Given the description of an element on the screen output the (x, y) to click on. 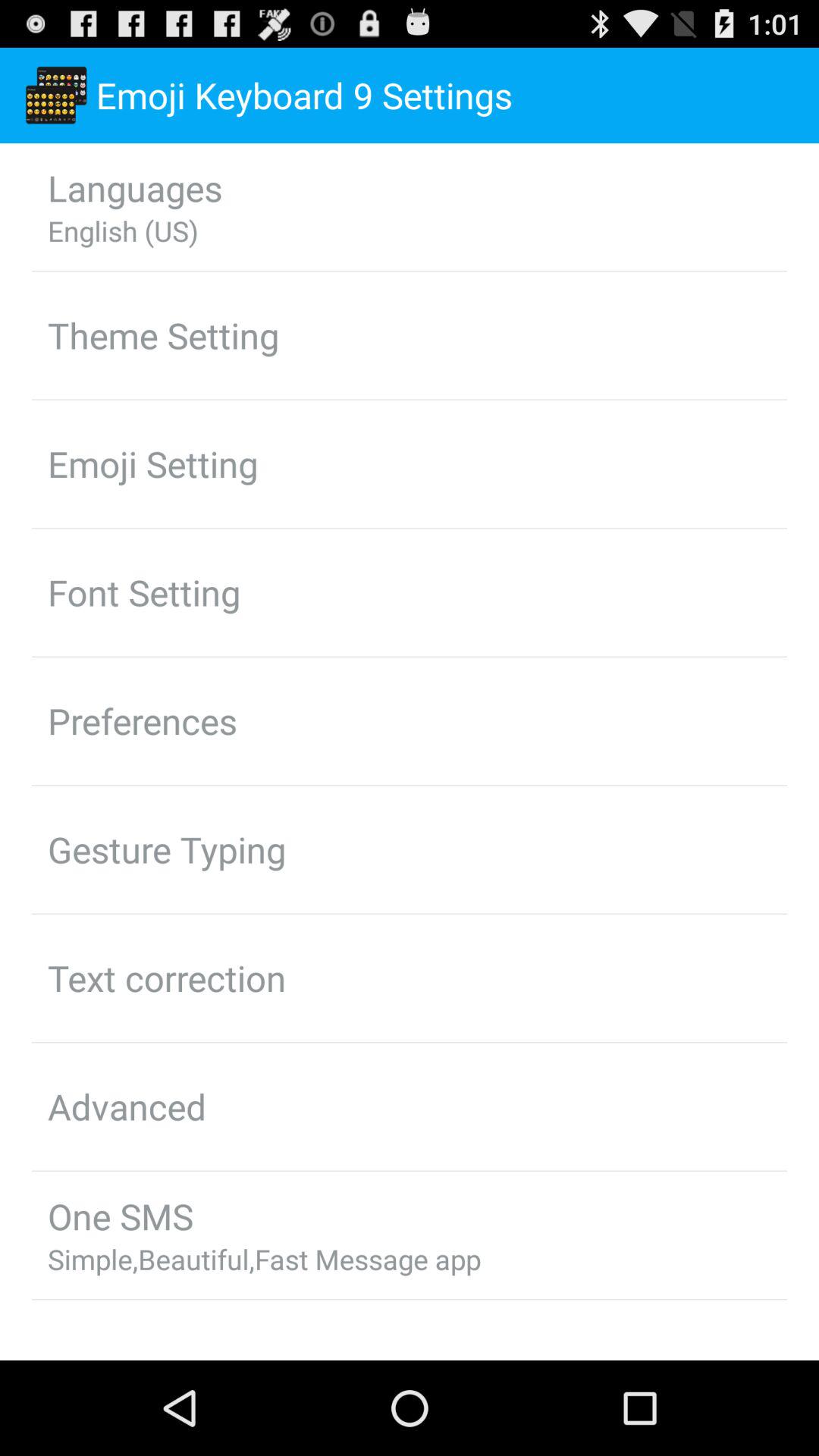
flip until the font setting (143, 592)
